Given the description of an element on the screen output the (x, y) to click on. 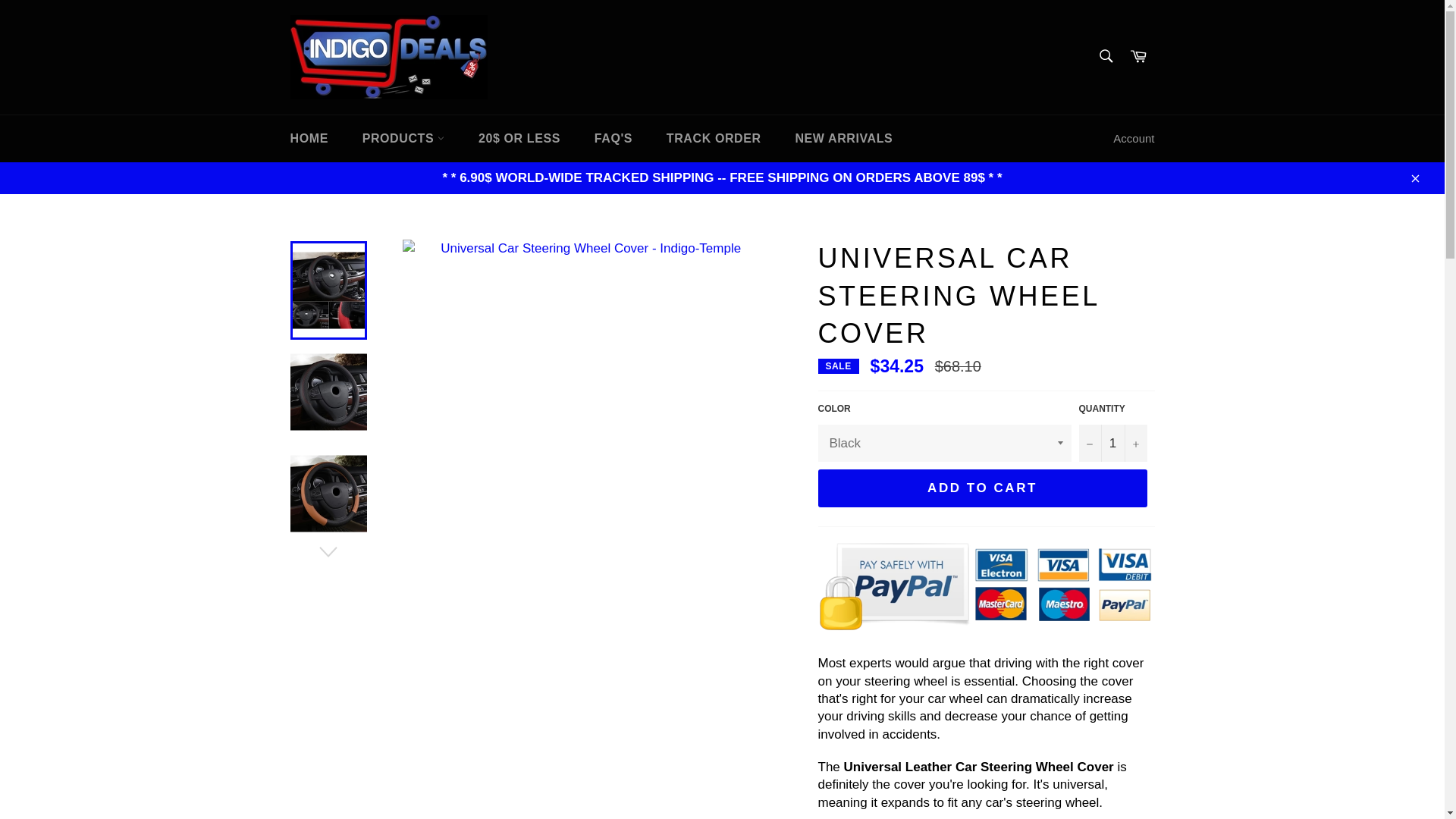
HOME (308, 138)
Cart (1138, 57)
Search (1104, 56)
1 (1112, 443)
PRODUCTS (403, 138)
